Given the description of an element on the screen output the (x, y) to click on. 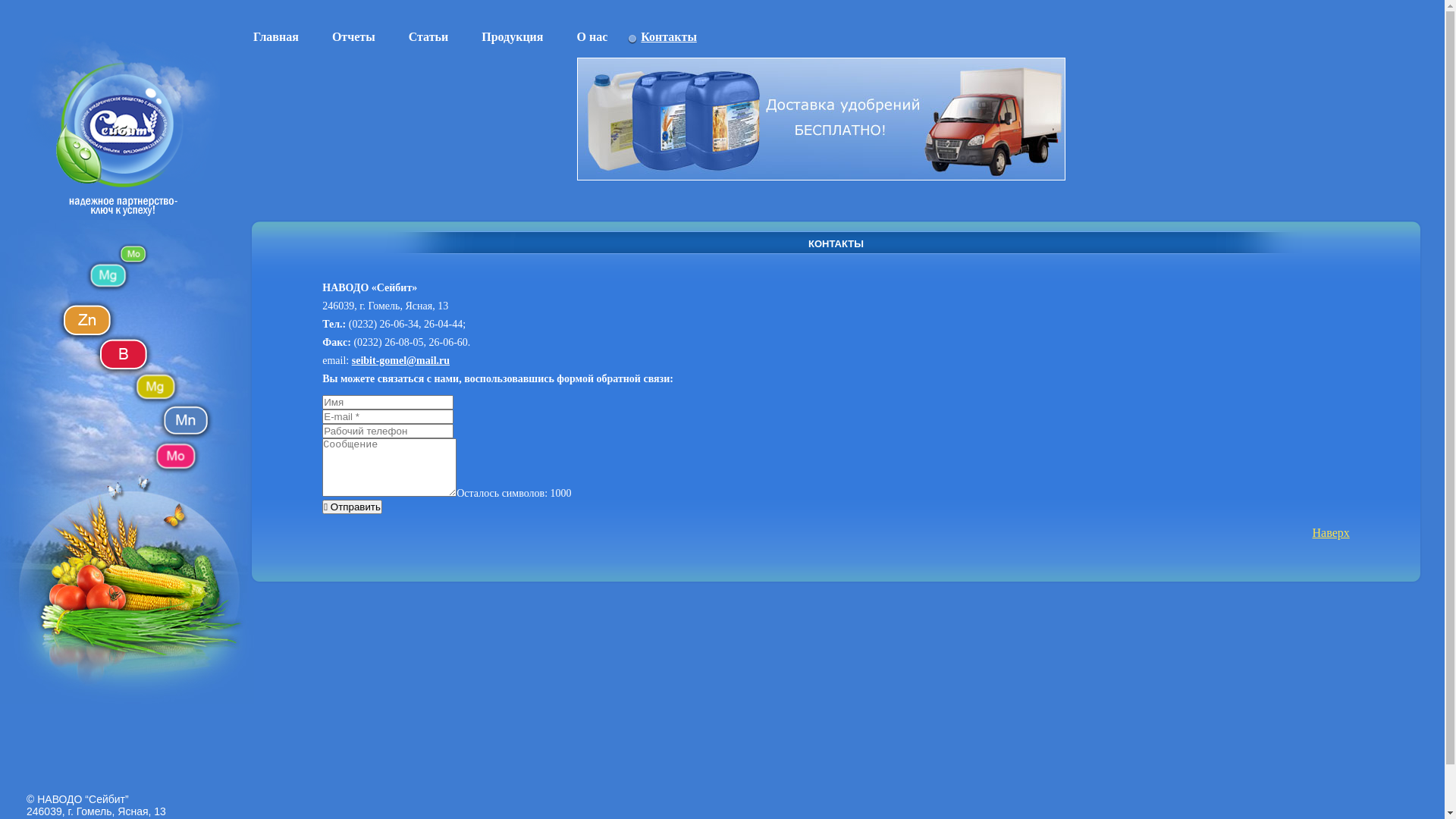
seibit-gomel@mail.ru Element type: text (400, 360)
